Given the description of an element on the screen output the (x, y) to click on. 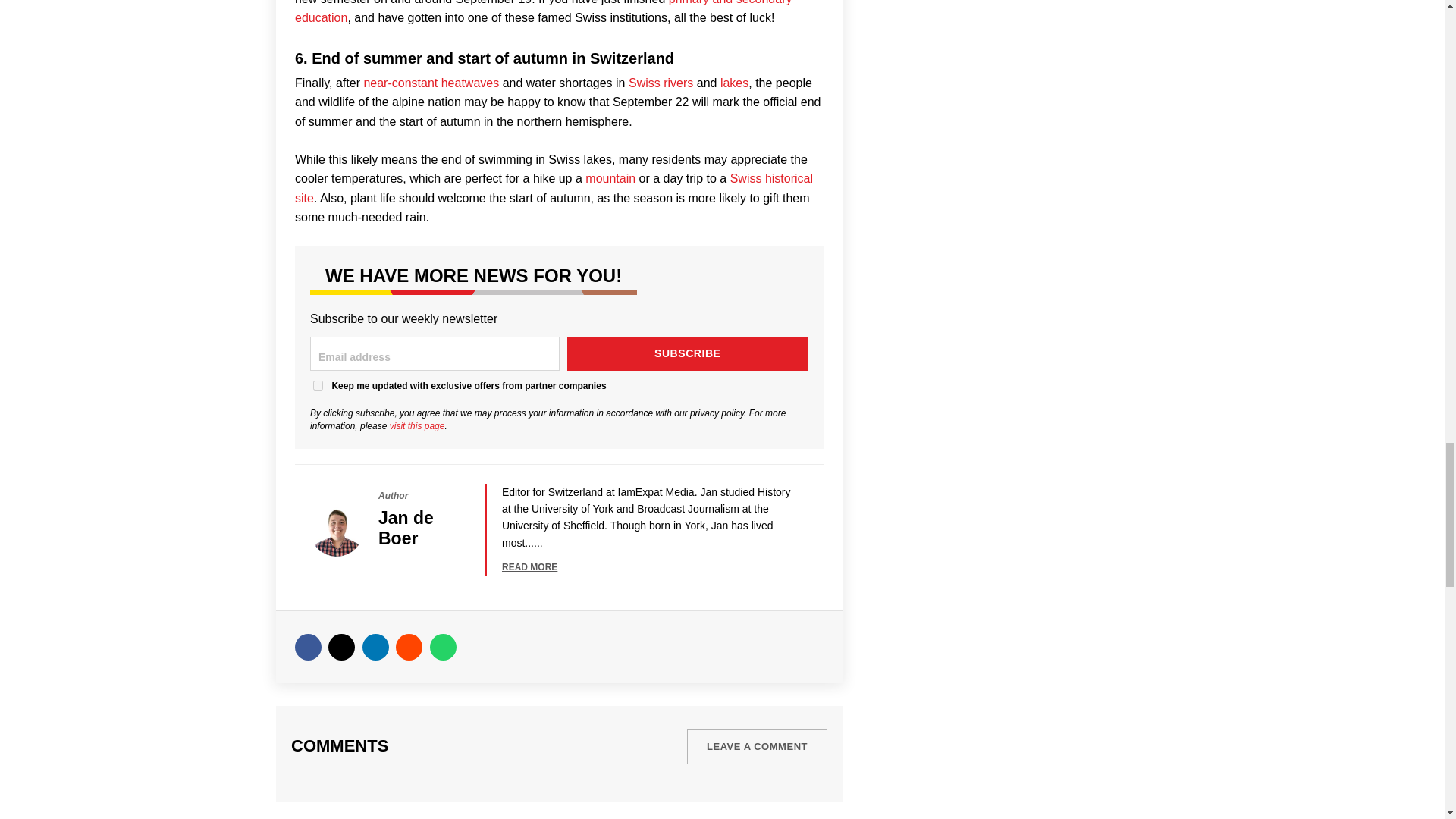
Leave a comment (757, 746)
Subscribe (688, 353)
0ad6d50423 (318, 385)
